Given the description of an element on the screen output the (x, y) to click on. 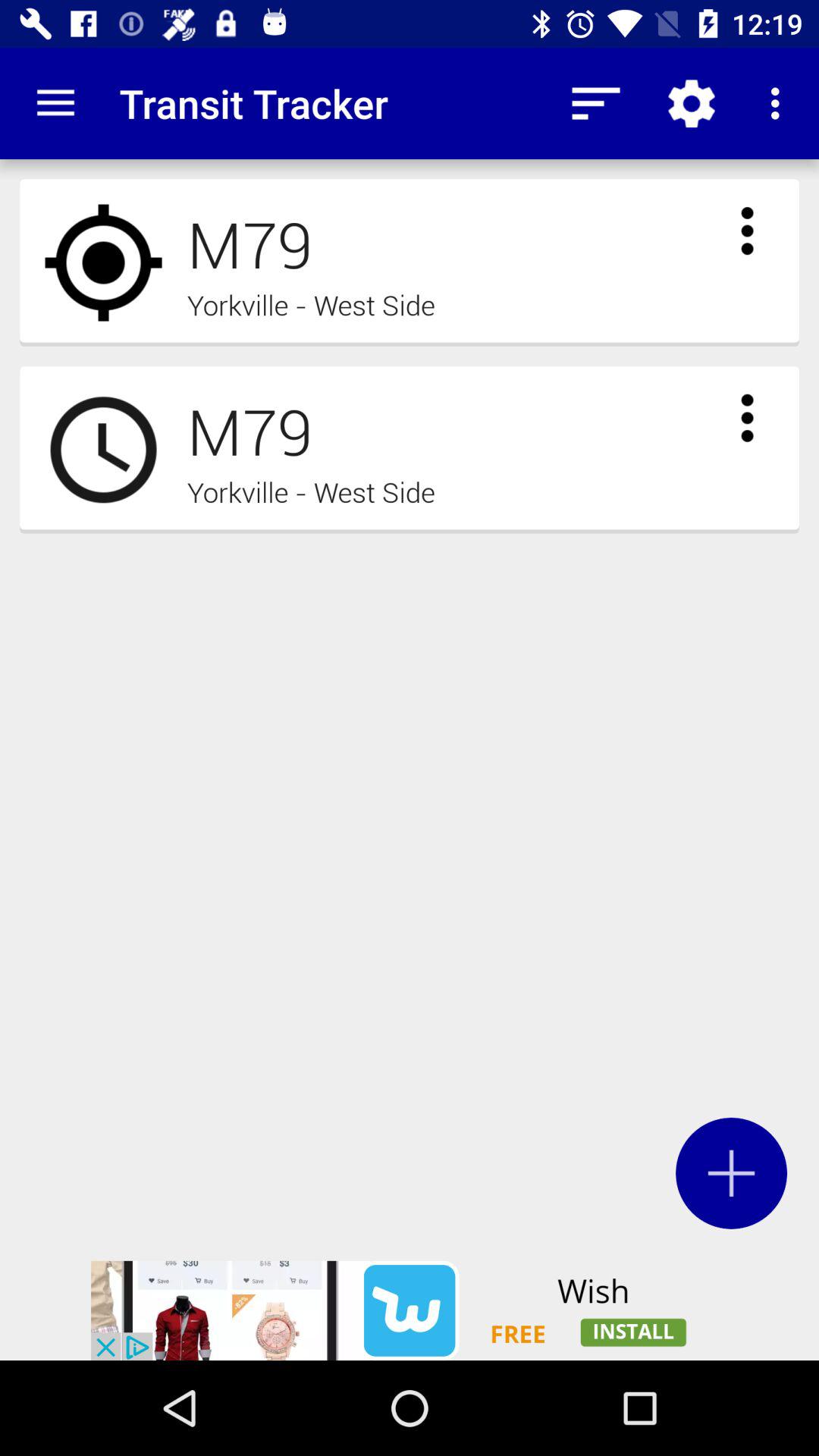
view more information (747, 230)
